Given the description of an element on the screen output the (x, y) to click on. 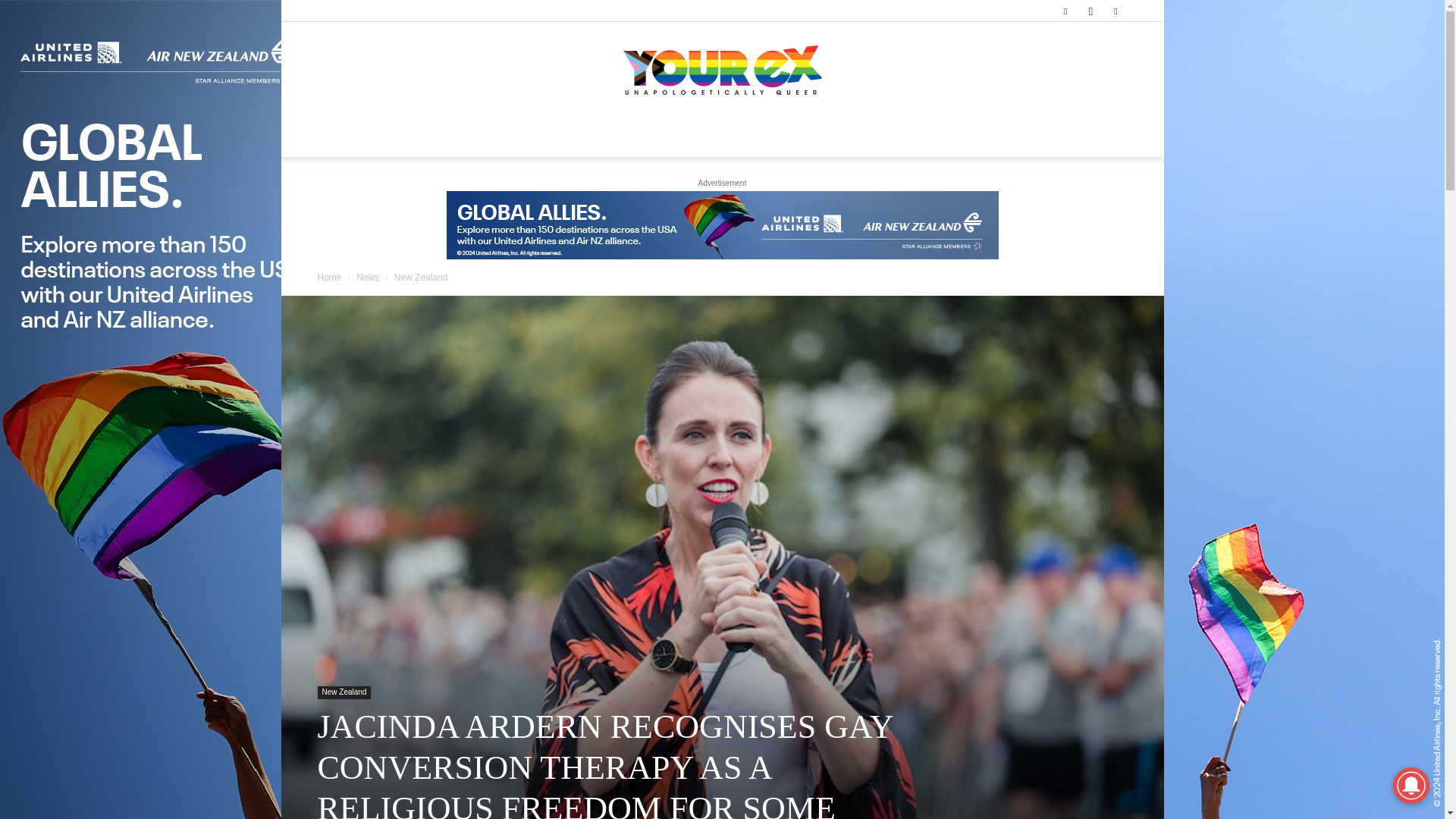
LIFESTYLE (560, 138)
YOUR EX (721, 71)
Twitter (1114, 10)
View all posts in News (367, 276)
Facebook (1065, 10)
express Magazine (722, 71)
EVENTS (780, 138)
PEOPLE (629, 138)
HOME (377, 138)
OPINION (490, 138)
Instagram (1090, 10)
NEWS (431, 138)
